Given the description of an element on the screen output the (x, y) to click on. 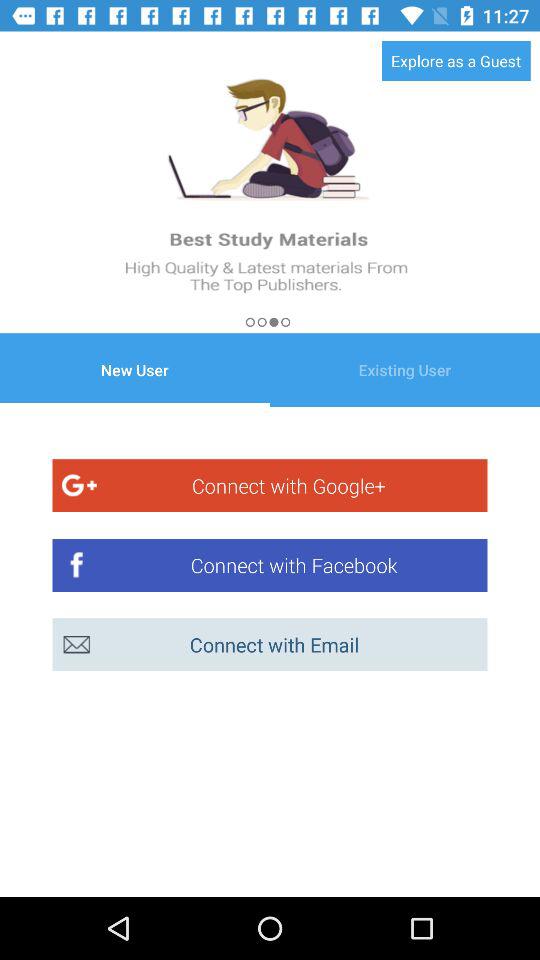
press explore as a item (455, 60)
